Given the description of an element on the screen output the (x, y) to click on. 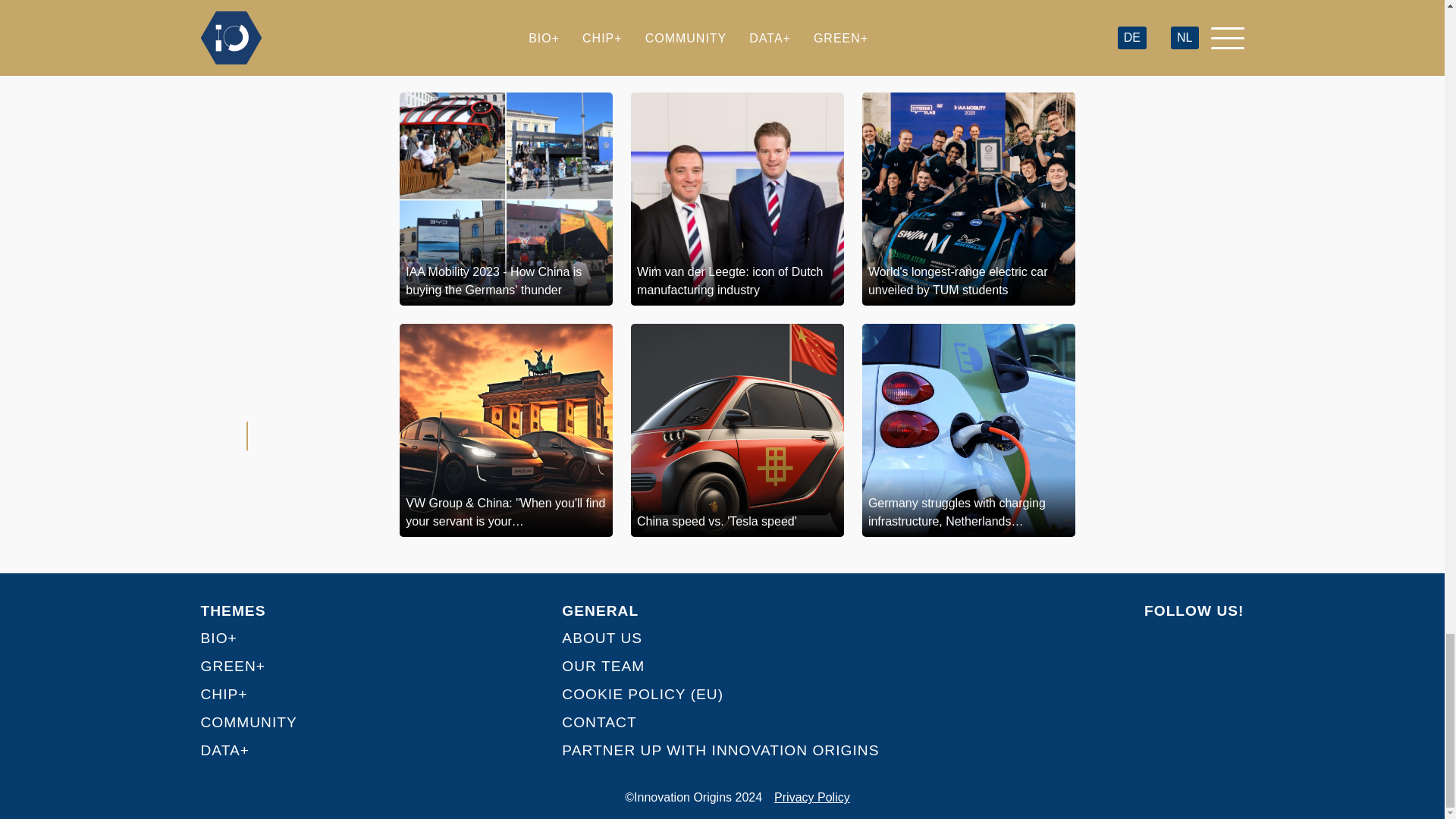
IAA Mobility 2023 - How China is buying the Germans' thunder (505, 198)
Wim van der Leegte: icon of Dutch manufacturing industry (737, 198)
World's longest-range electric car unveiled by TUM students (968, 198)
